Given the description of an element on the screen output the (x, y) to click on. 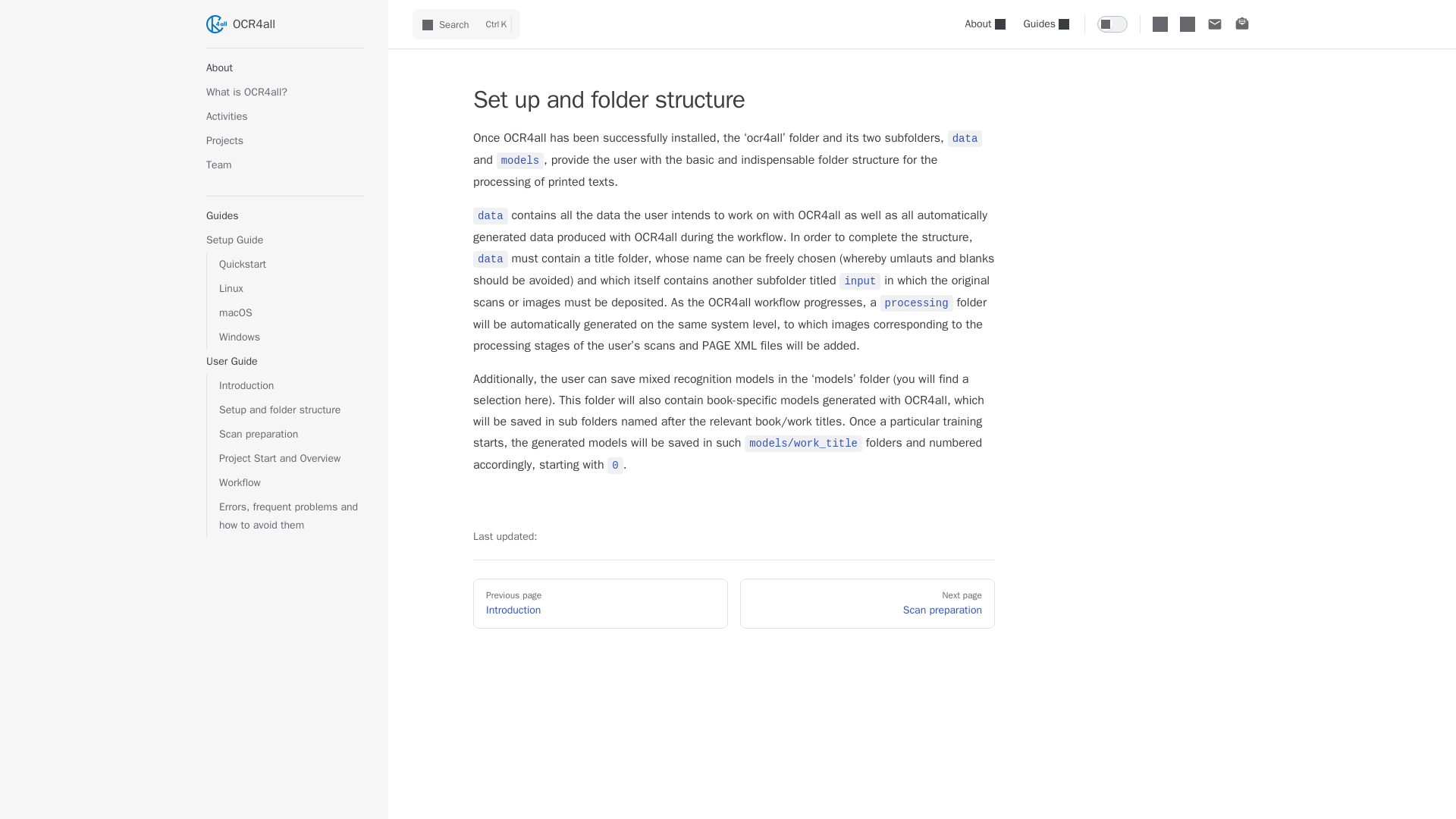
OCR4all (285, 24)
Windows (291, 337)
Quickstart (291, 264)
Switch to dark theme (1111, 23)
Project Start and Overview (291, 458)
macOS (291, 313)
Projects (285, 140)
About (985, 24)
Workflow (291, 482)
Activities (285, 116)
Skip to content (23, 16)
What is OCR4all? (285, 92)
Linux (291, 288)
Errors, frequent problems and how to avoid them (291, 516)
Guides (1046, 24)
